Given the description of an element on the screen output the (x, y) to click on. 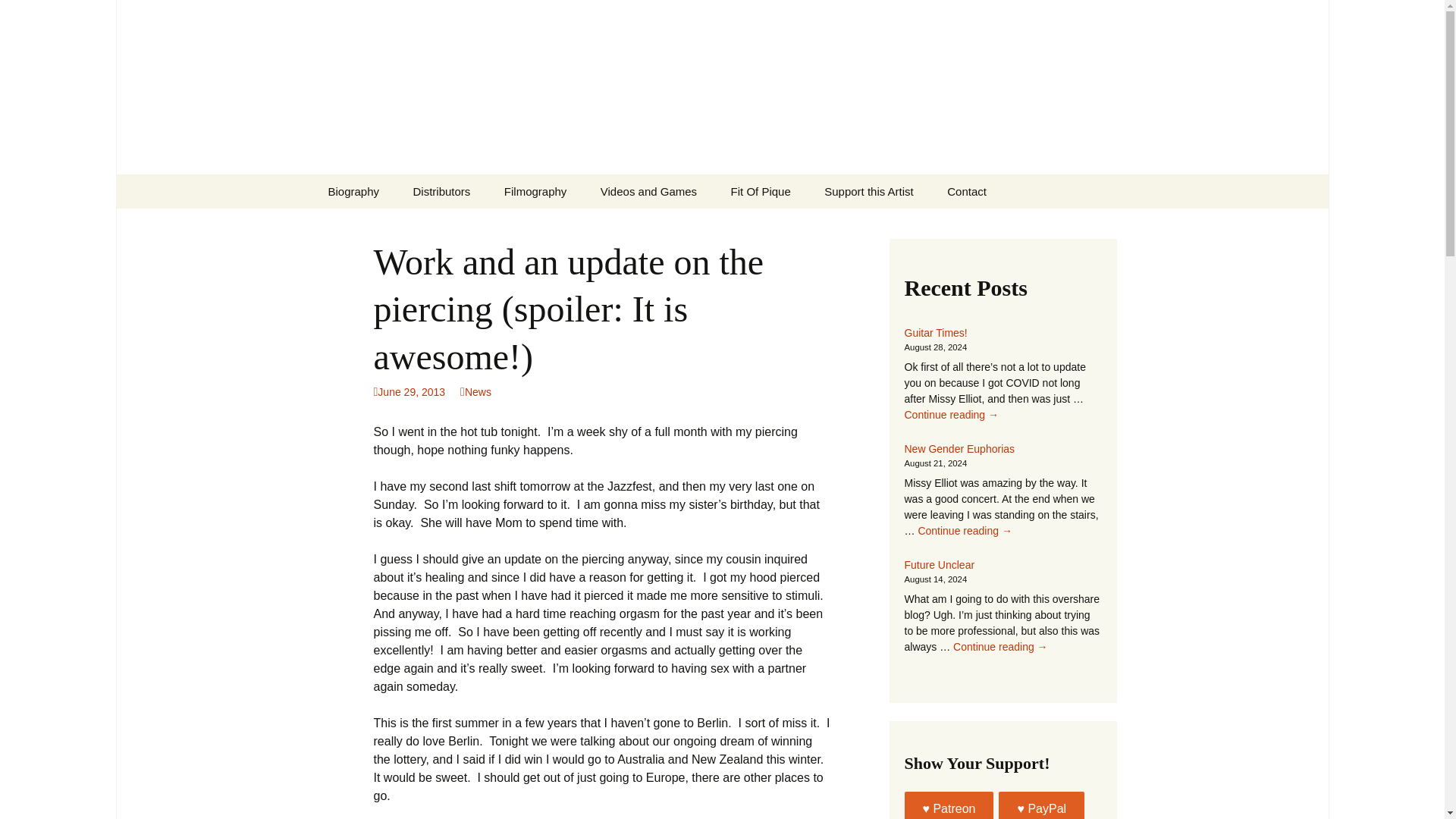
June 29, 2013 (408, 391)
Contact (966, 191)
New Gender Euphorias (959, 449)
Filmography (535, 191)
Future Unclear (939, 564)
Biography (353, 191)
Support this Artist (868, 191)
News (476, 391)
Distributors (440, 191)
